Given the description of an element on the screen output the (x, y) to click on. 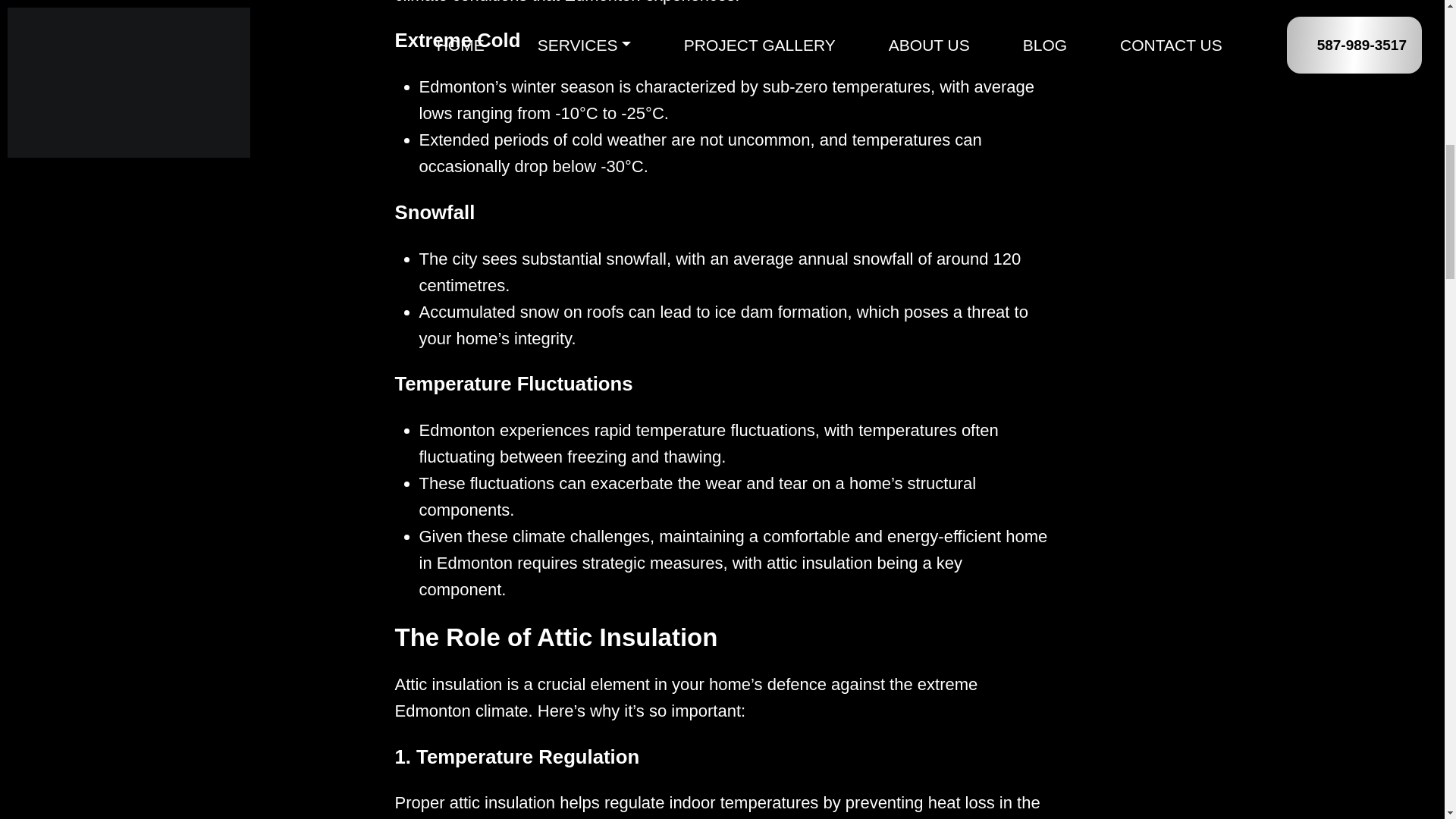
Attic insulation (448, 683)
sub-zero temperatures, (848, 86)
